Given the description of an element on the screen output the (x, y) to click on. 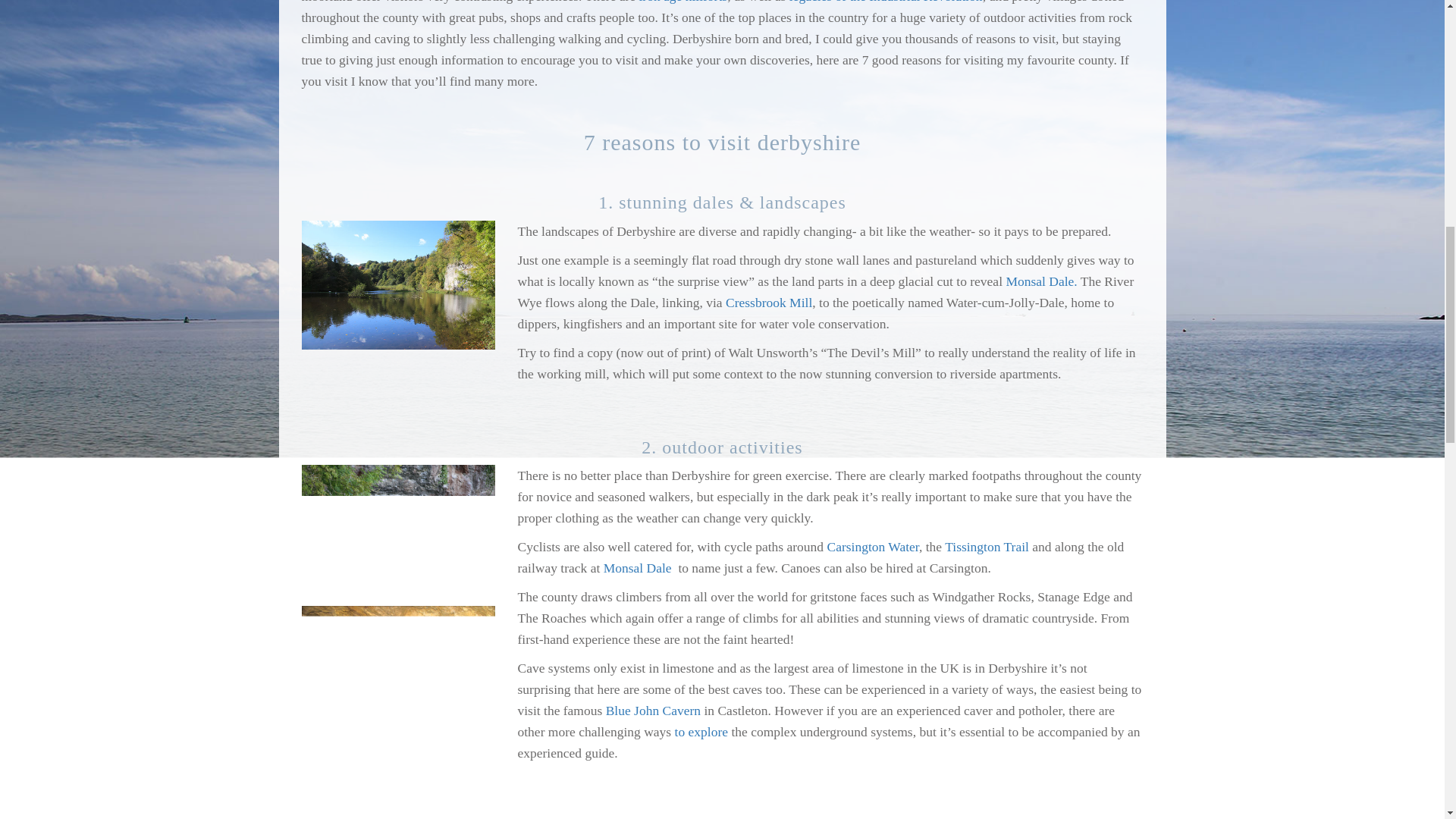
iron age hillforts (682, 2)
Monsal Dale (637, 567)
legacies of the Industrial Revolution (885, 2)
Carsington Water (872, 546)
Cressbrook Mill (768, 302)
Blue John Cavern (652, 710)
Tissington Trail (986, 546)
Monsal Dale. (1041, 281)
to explore (701, 731)
